Given the description of an element on the screen output the (x, y) to click on. 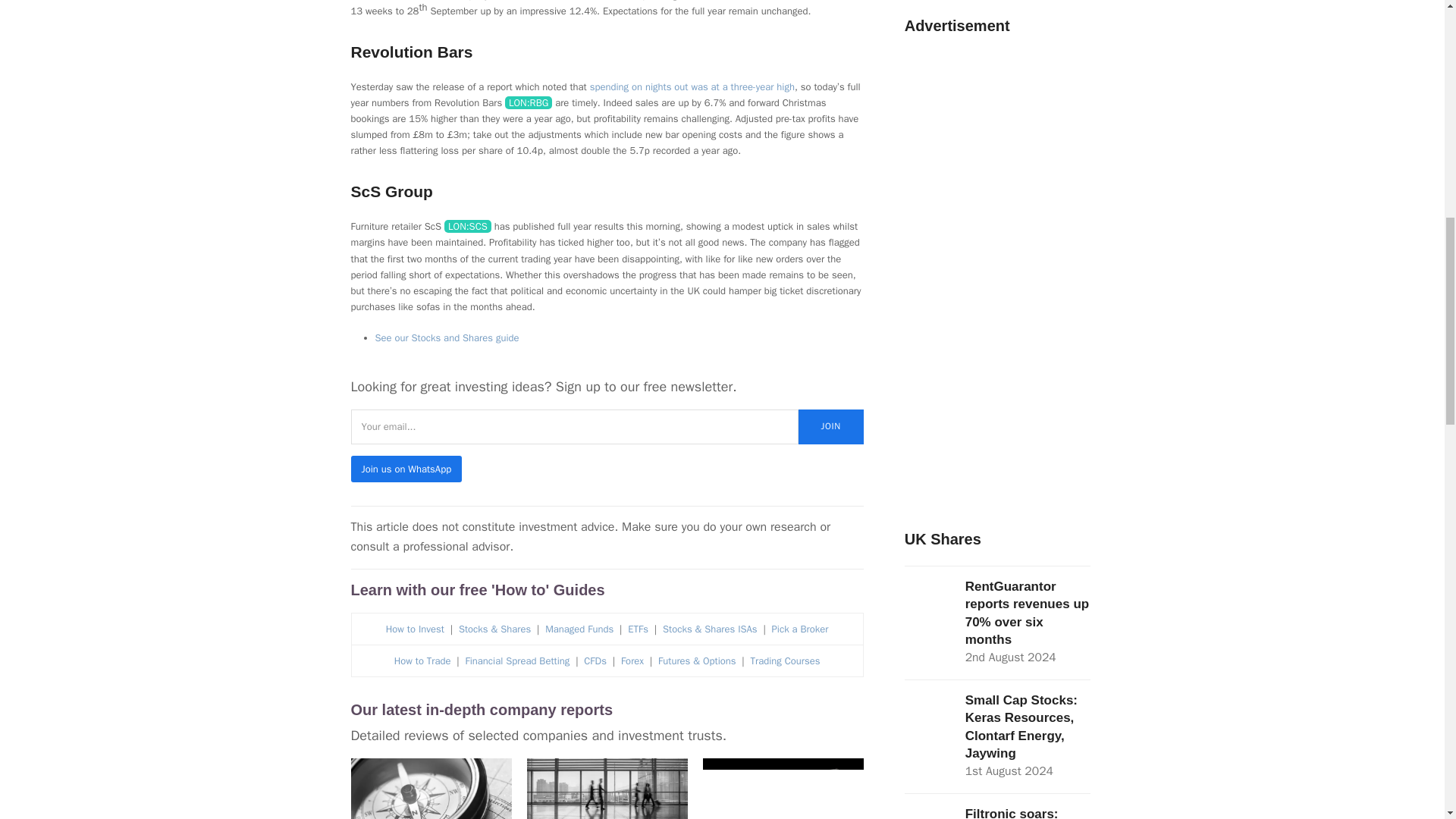
Bedford Park Capital: Go West, Young Man! (430, 805)
ScS Group share price (468, 226)
Revolution Bars Group share price (528, 102)
